Given the description of an element on the screen output the (x, y) to click on. 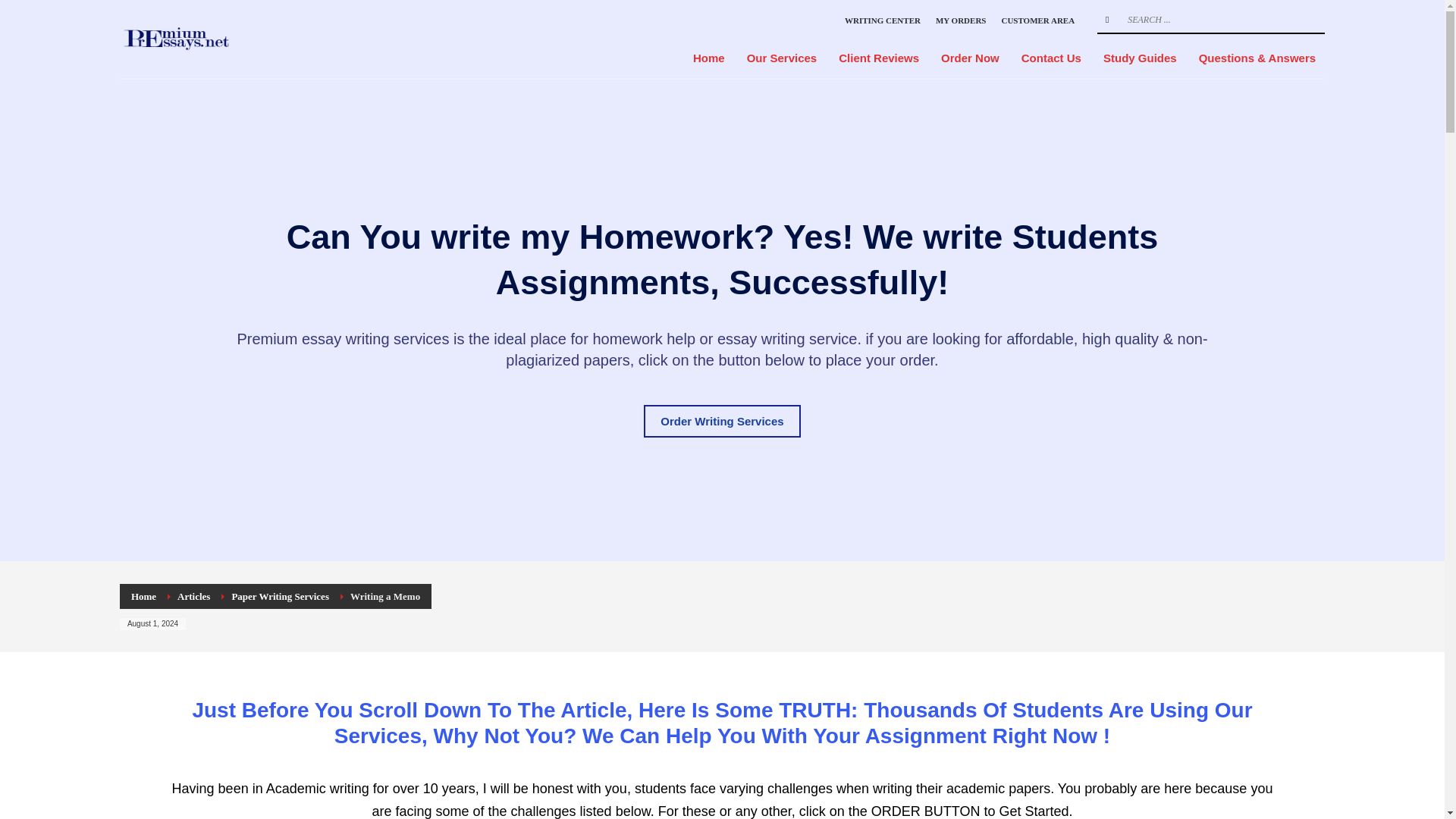
Order Now (970, 57)
Contact Us (1050, 57)
WRITING CENTER (882, 20)
Articles (193, 595)
Order Writing Services (721, 420)
Home (708, 57)
Home (143, 595)
Client Reviews (878, 57)
Study Guides (1140, 57)
MY ORDERS (961, 20)
CUSTOMER AREA (1037, 20)
Our Services (782, 57)
Click me (721, 420)
Articles (193, 595)
Paper Writing Services (280, 595)
